Given the description of an element on the screen output the (x, y) to click on. 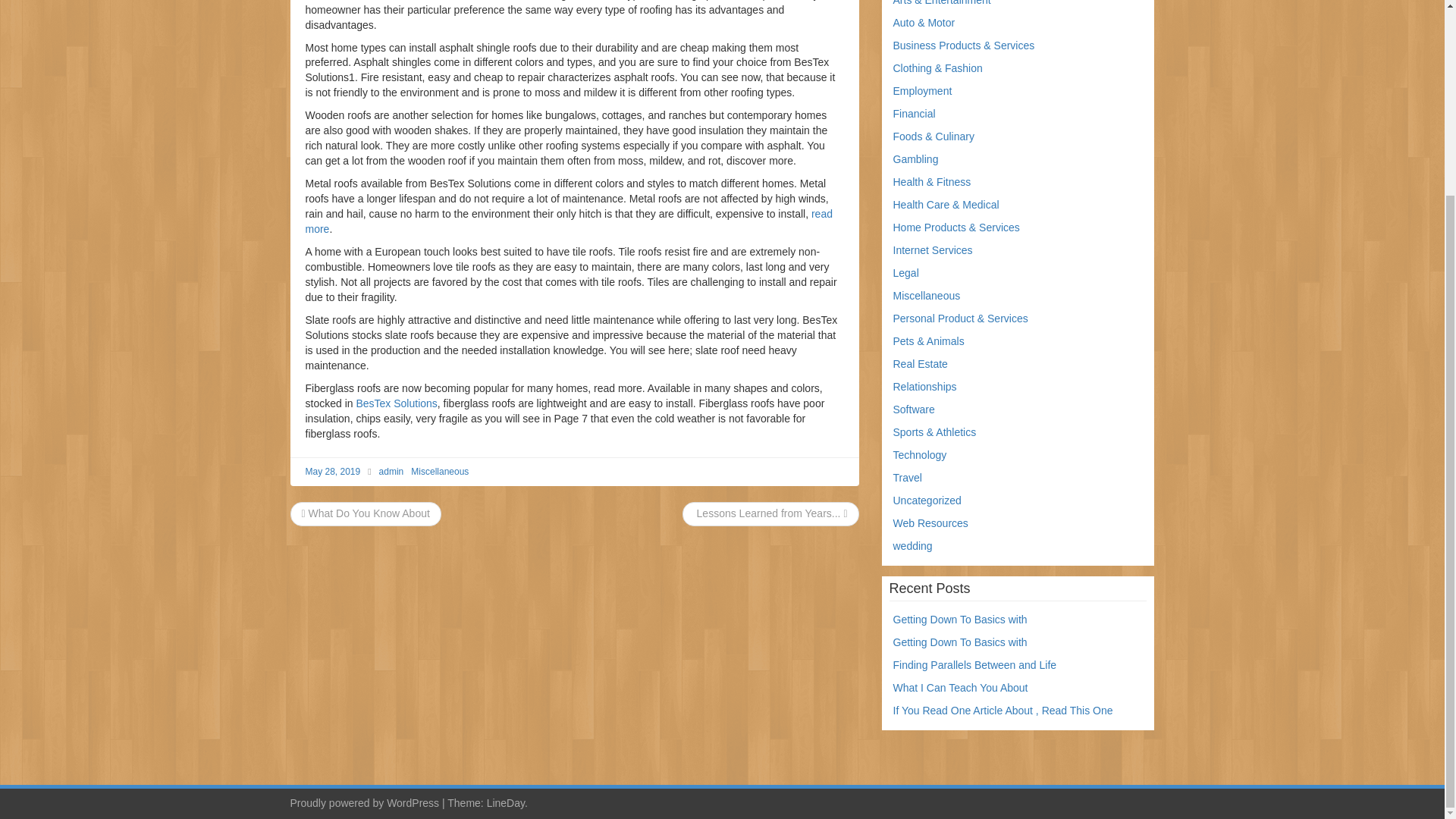
Internet Services (932, 250)
Financial (914, 113)
 Lessons Learned from Years...  (770, 512)
Finding Parallels Between and Life (975, 664)
Employment (922, 91)
read more (567, 221)
Miscellaneous (926, 295)
Web Resources (930, 522)
Relationships (924, 386)
Getting Down To Basics with (960, 642)
BesTex Solutions (395, 403)
May 28, 2019 (331, 471)
 What Do You Know About (365, 512)
Real Estate (920, 363)
Legal (905, 272)
